Given the description of an element on the screen output the (x, y) to click on. 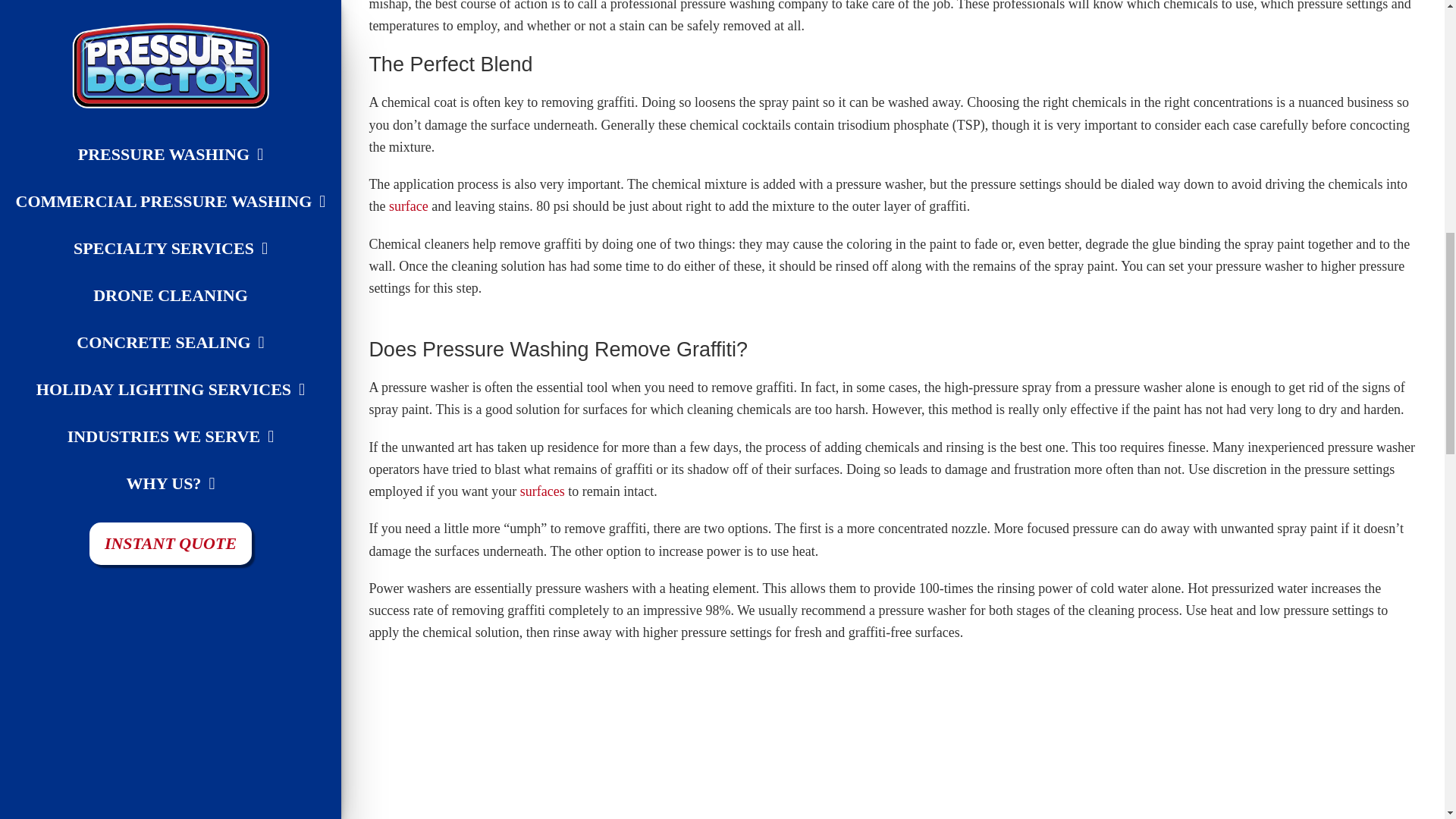
Using Pressure Washing To Remove Graffiti (756, 739)
